Given the description of an element on the screen output the (x, y) to click on. 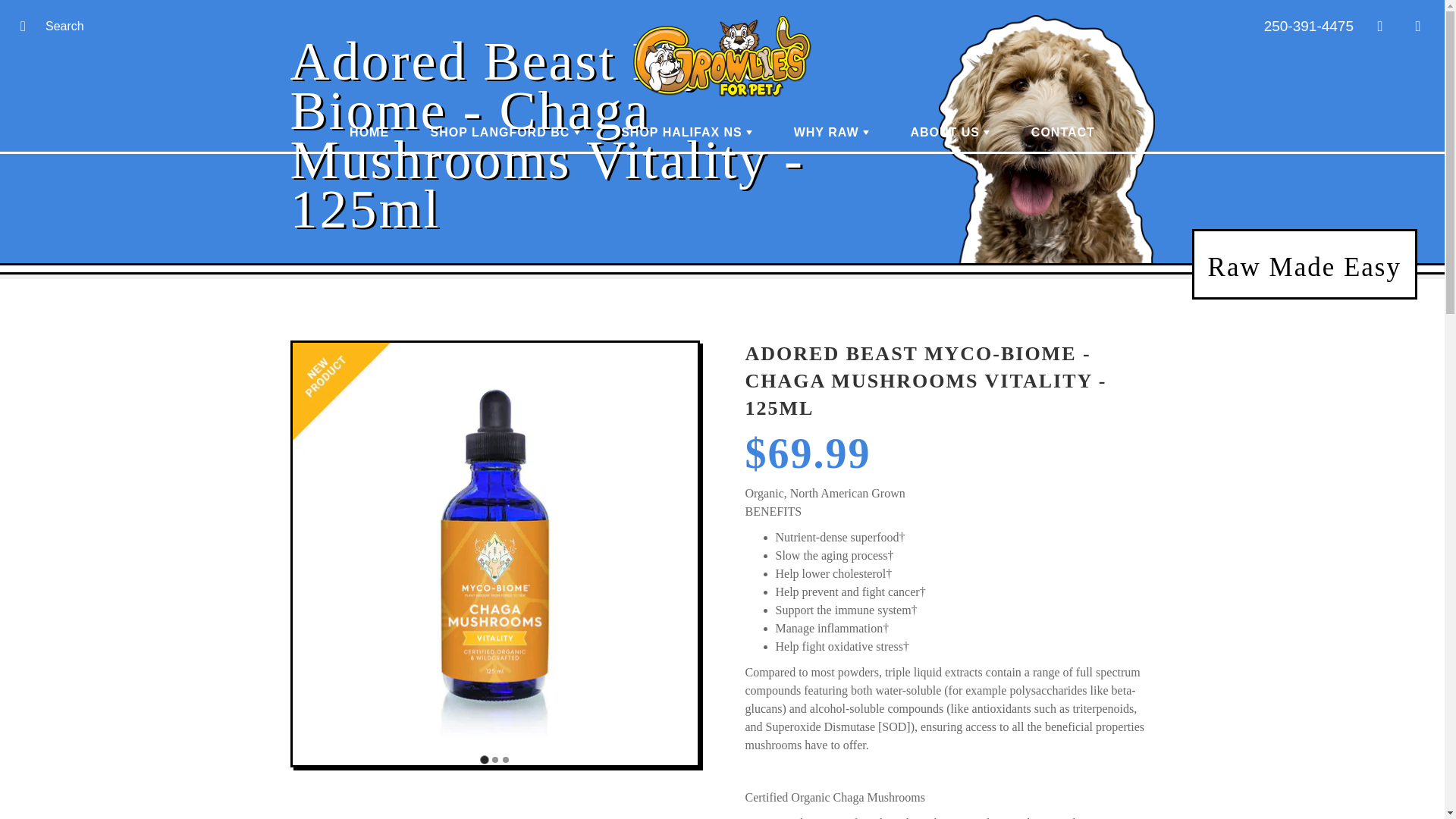
WHY RAW (831, 132)
CONTACT (1062, 132)
HOME (368, 132)
250-391-4475 (1308, 26)
ABOUT US (950, 132)
You have 0 items in your cart (1417, 26)
SHOP LANGFORD BC (505, 132)
SHOP HALIFAX NS (686, 132)
My account (1379, 26)
Search (28, 26)
